Given the description of an element on the screen output the (x, y) to click on. 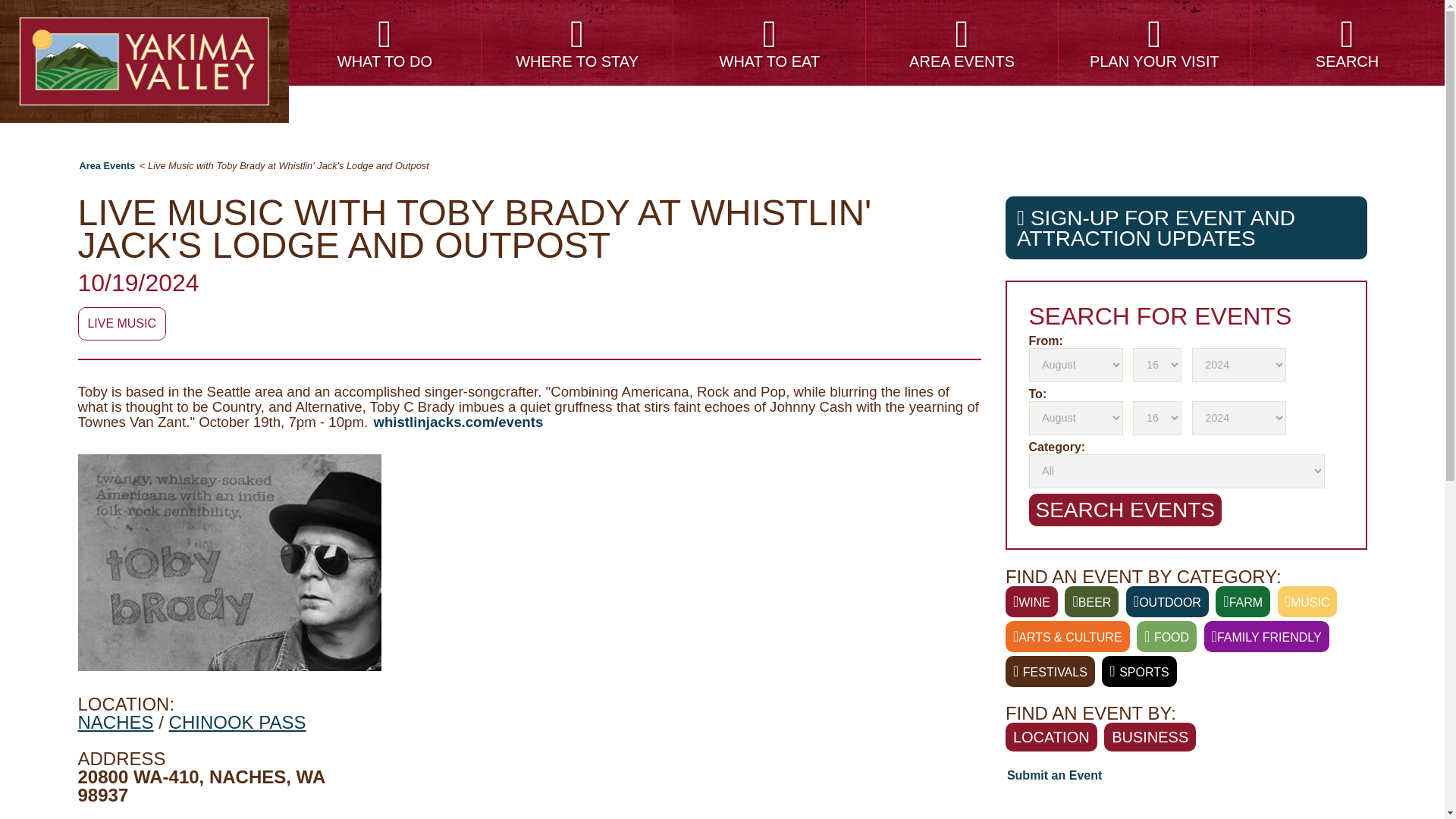
Search the Yakima Valley Tourism Website (1347, 42)
Sign-up for Yakima Valley Event and Attraction Updates (1186, 227)
Yakima Valley Events and Festivals (962, 42)
Find Yakima Valley Events by Location (1091, 601)
AREA EVENTS (962, 42)
Yakima Valley Restaurants (769, 42)
Live Music (121, 323)
NACHES (114, 721)
Yakima Valley Lodging and Accommodations (577, 42)
SIGN-UP FOR EVENT AND ATTRACTION UPDATES (1186, 227)
